Given the description of an element on the screen output the (x, y) to click on. 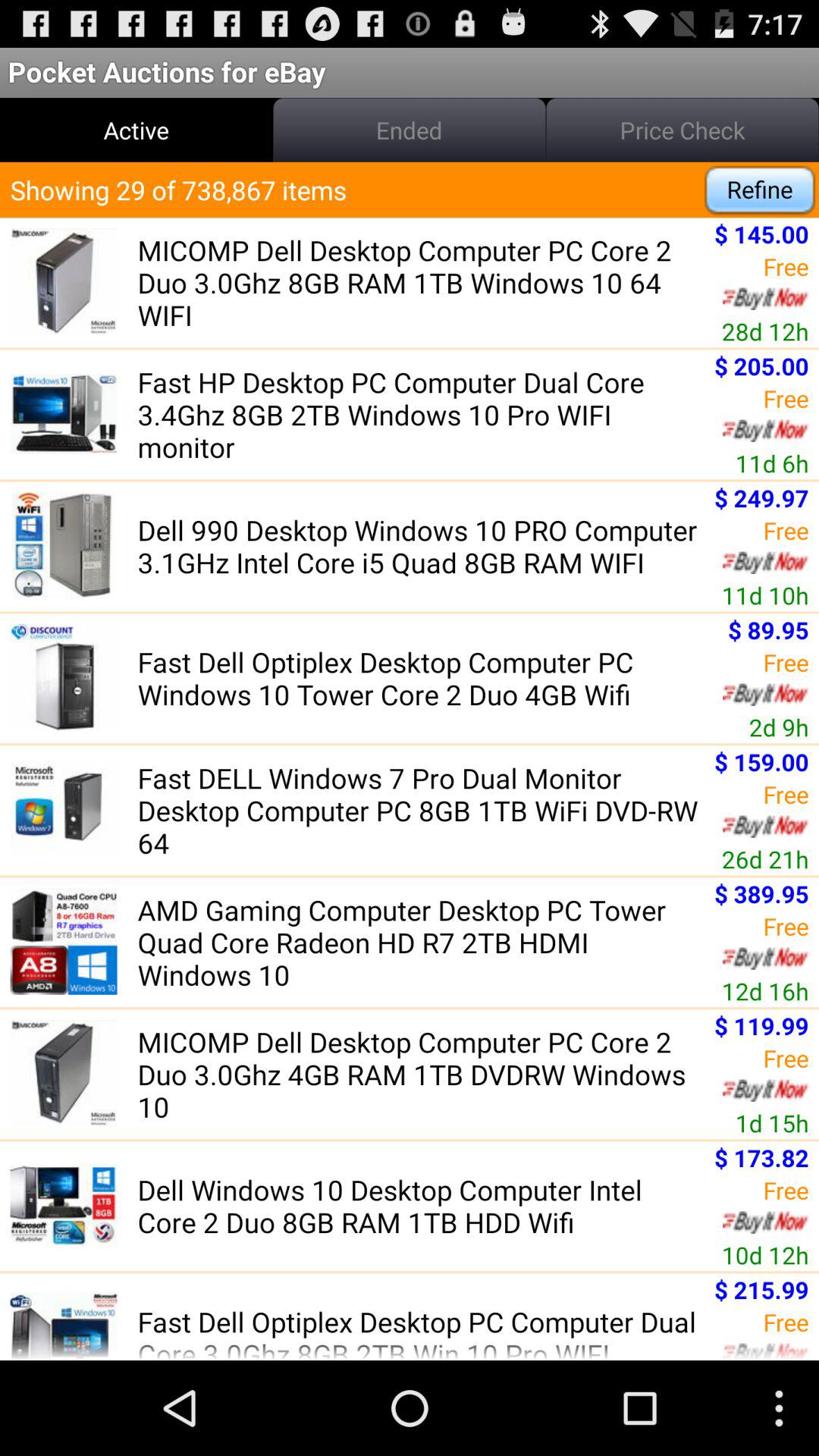
open the 12d 16h item (764, 990)
